Given the description of an element on the screen output the (x, y) to click on. 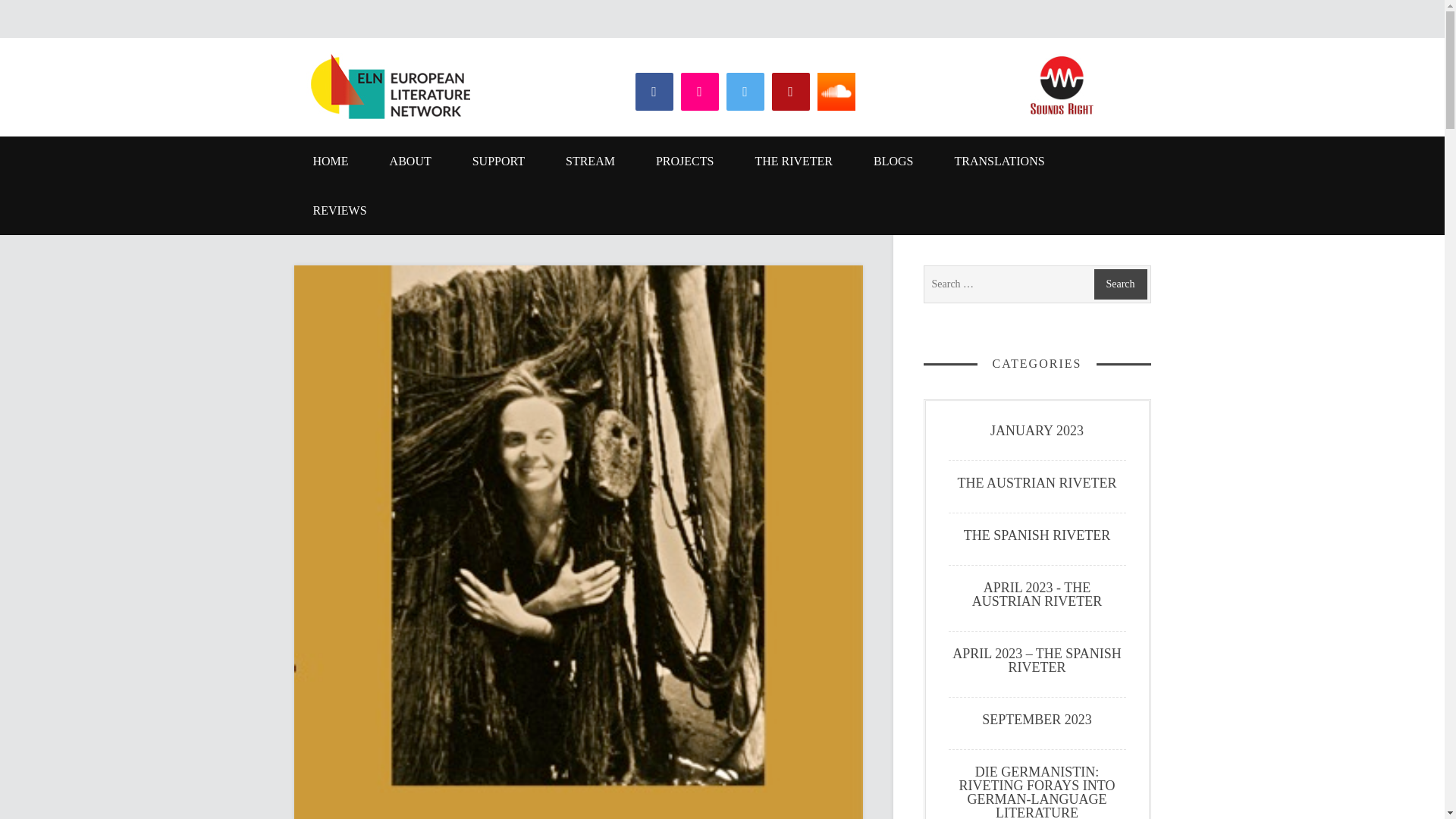
HOME (331, 160)
SUPPORT (497, 160)
Search (1120, 284)
ABOUT (410, 160)
STREAM (590, 160)
Search (1120, 284)
